Given the description of an element on the screen output the (x, y) to click on. 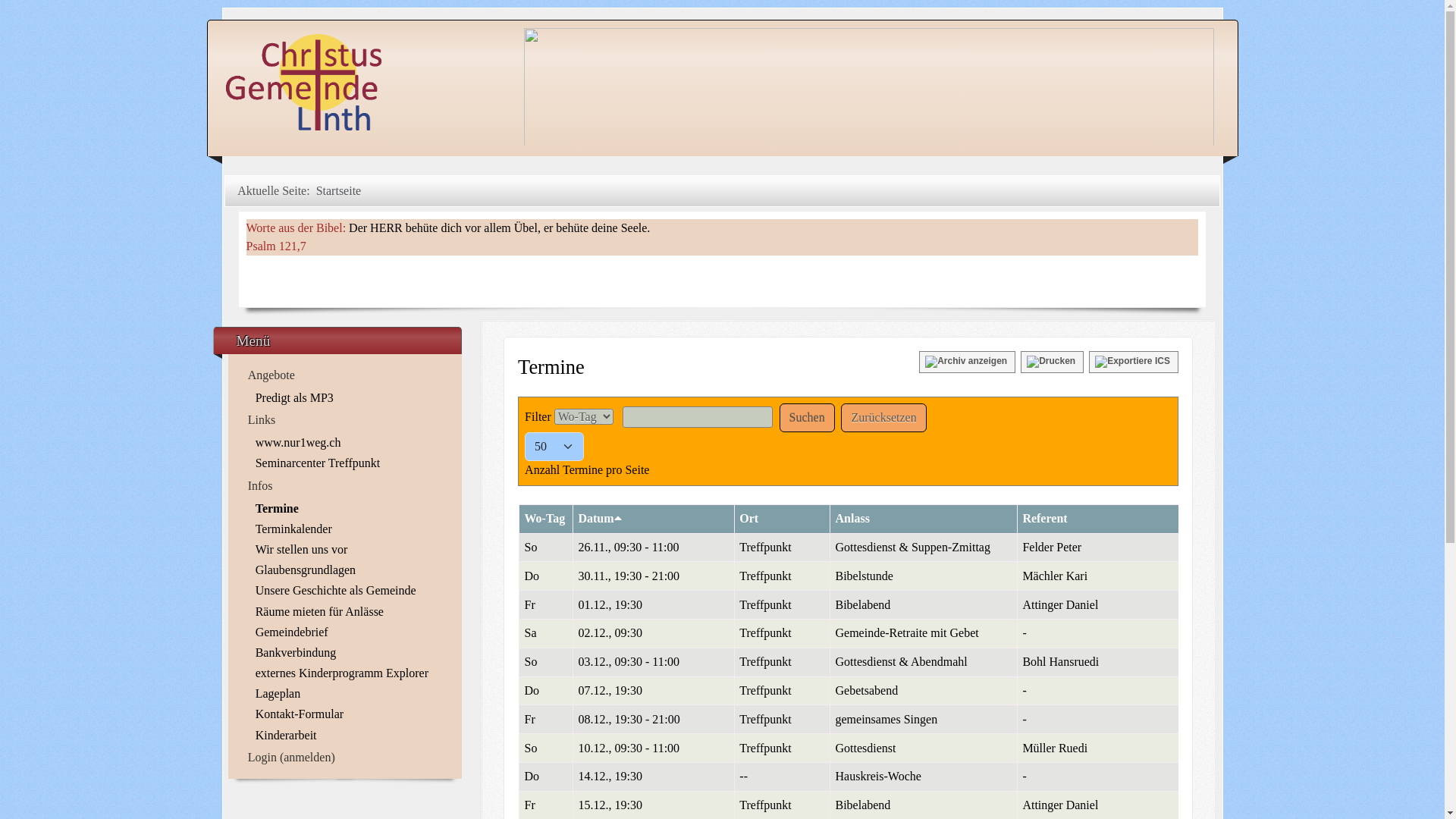
externes Kinderprogramm Explorer Element type: text (348, 672)
Predigt als MP3 Element type: text (348, 397)
Login (anmelden) Element type: text (344, 757)
Gemeindebrief Element type: text (348, 631)
Bankverbindung Element type: text (348, 652)
Terminkalender Element type: text (348, 528)
Wir stellen uns vor Element type: text (348, 549)
Anlass Element type: text (852, 517)
Wo-Tag Element type: text (544, 517)
Datum Element type: text (599, 517)
Ort Element type: text (748, 517)
Kontakt-Formular Element type: text (348, 713)
Suchen Element type: text (806, 417)
Termine Element type: text (348, 508)
Referent Element type: text (1044, 517)
Glaubensgrundlagen Element type: text (348, 569)
Seminarcenter Treffpunkt Element type: text (348, 462)
Kinderarbeit Element type: text (348, 734)
www.nur1weg.ch Element type: text (348, 442)
Unsere Geschichte als Gemeinde Element type: text (348, 590)
Lageplan Element type: text (348, 693)
<strong>Drucken</strong><br>Diese Seite drucken Element type: hover (1051, 362)
